Given the description of an element on the screen output the (x, y) to click on. 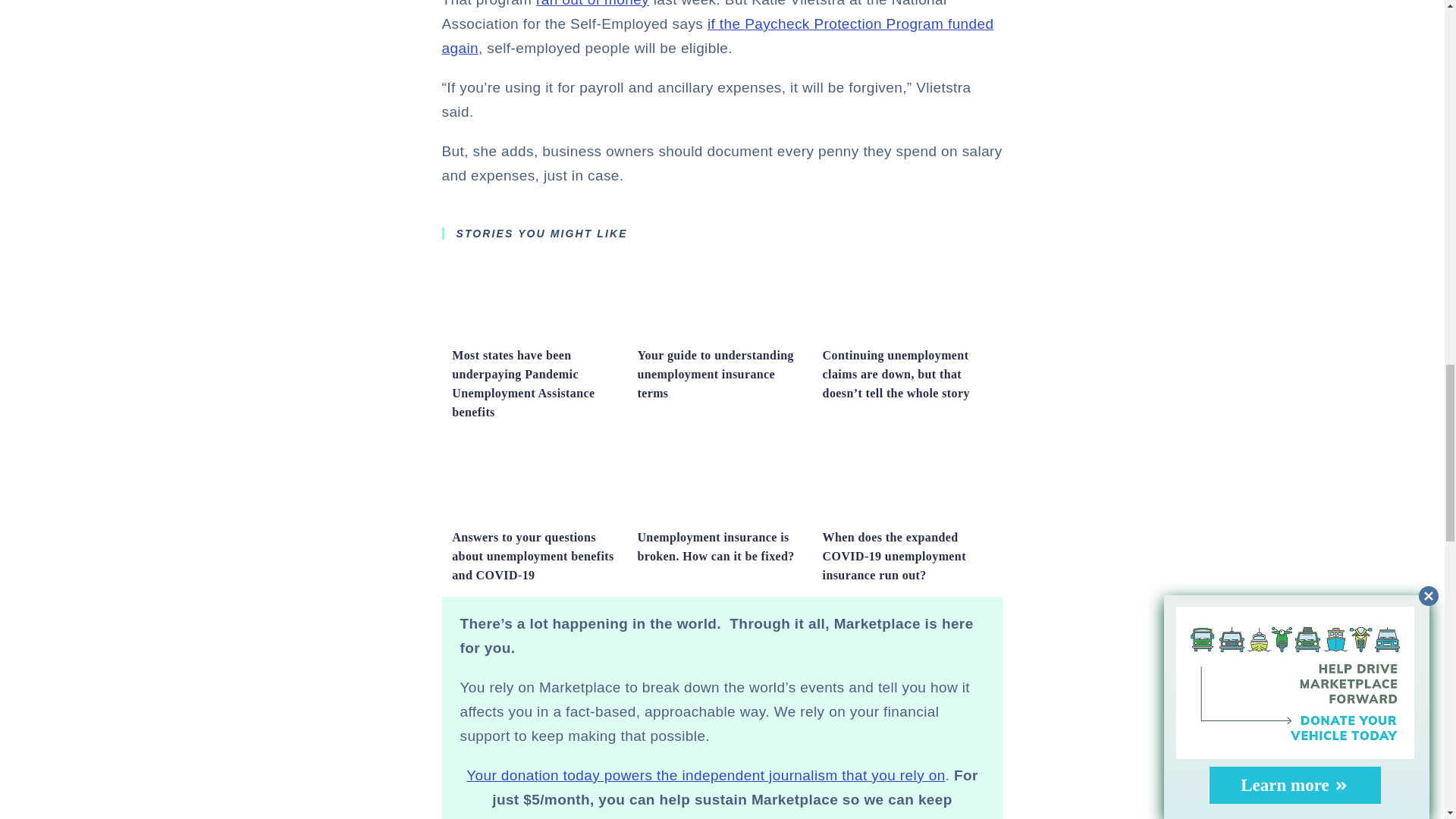
Your guide to understanding unemployment insurance terms (721, 333)
